Given the description of an element on the screen output the (x, y) to click on. 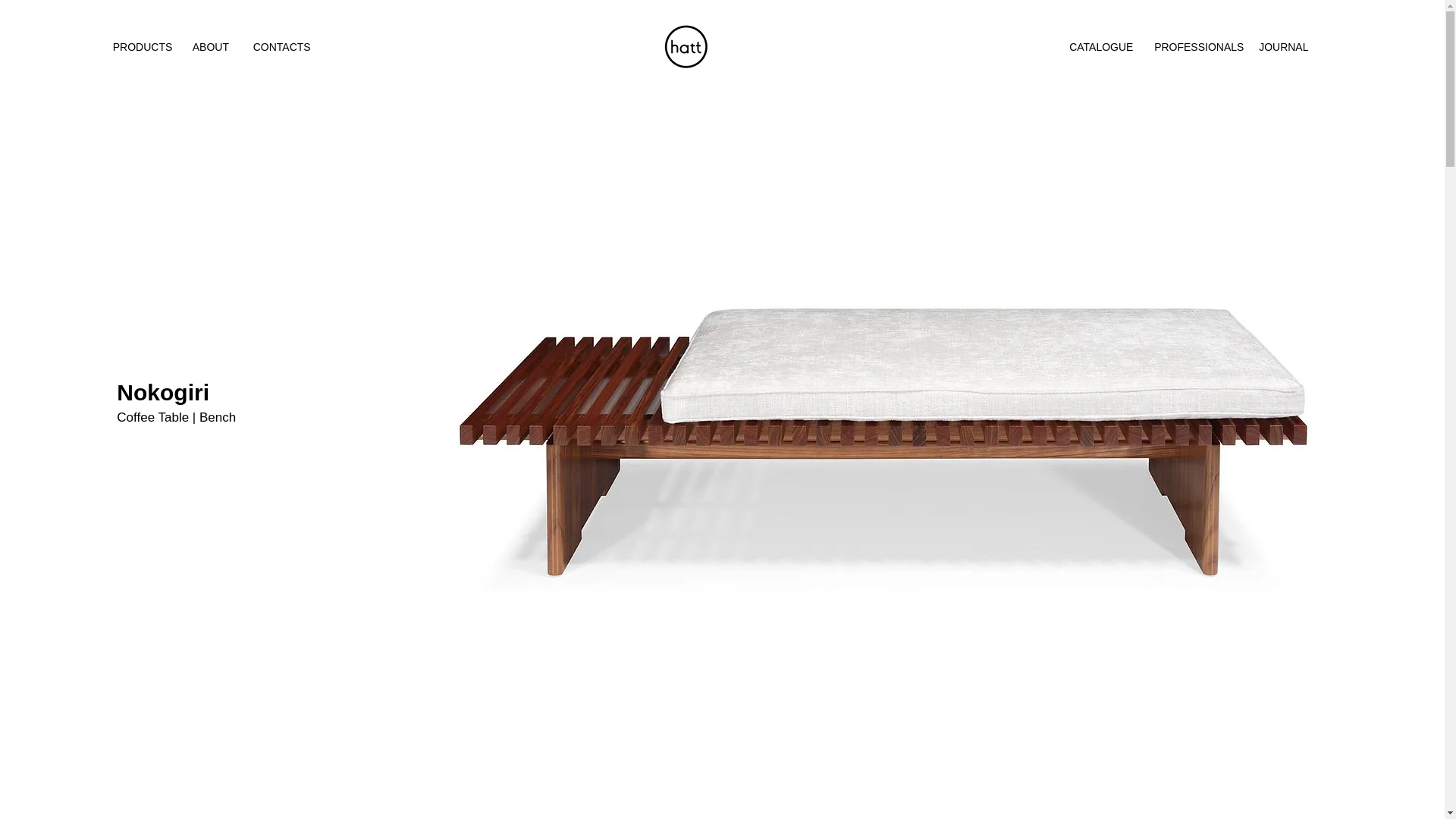
ABOUT (215, 46)
CONTACTS (286, 46)
CATALOGUE (1104, 46)
PRODUCTS (144, 46)
JOURNAL (1285, 46)
PROFESSIONALS (1198, 46)
